Given the description of an element on the screen output the (x, y) to click on. 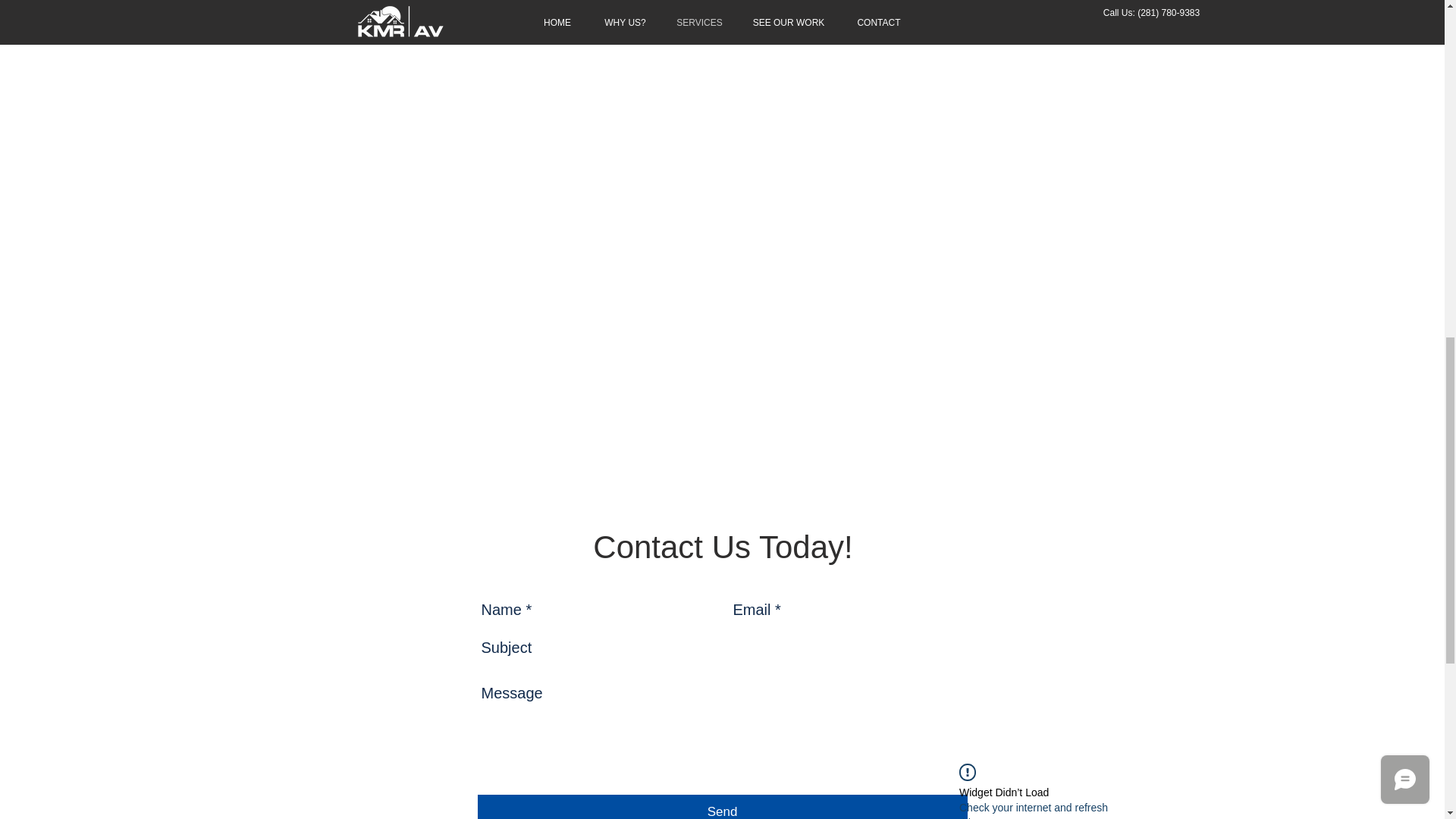
Send (722, 806)
